Given the description of an element on the screen output the (x, y) to click on. 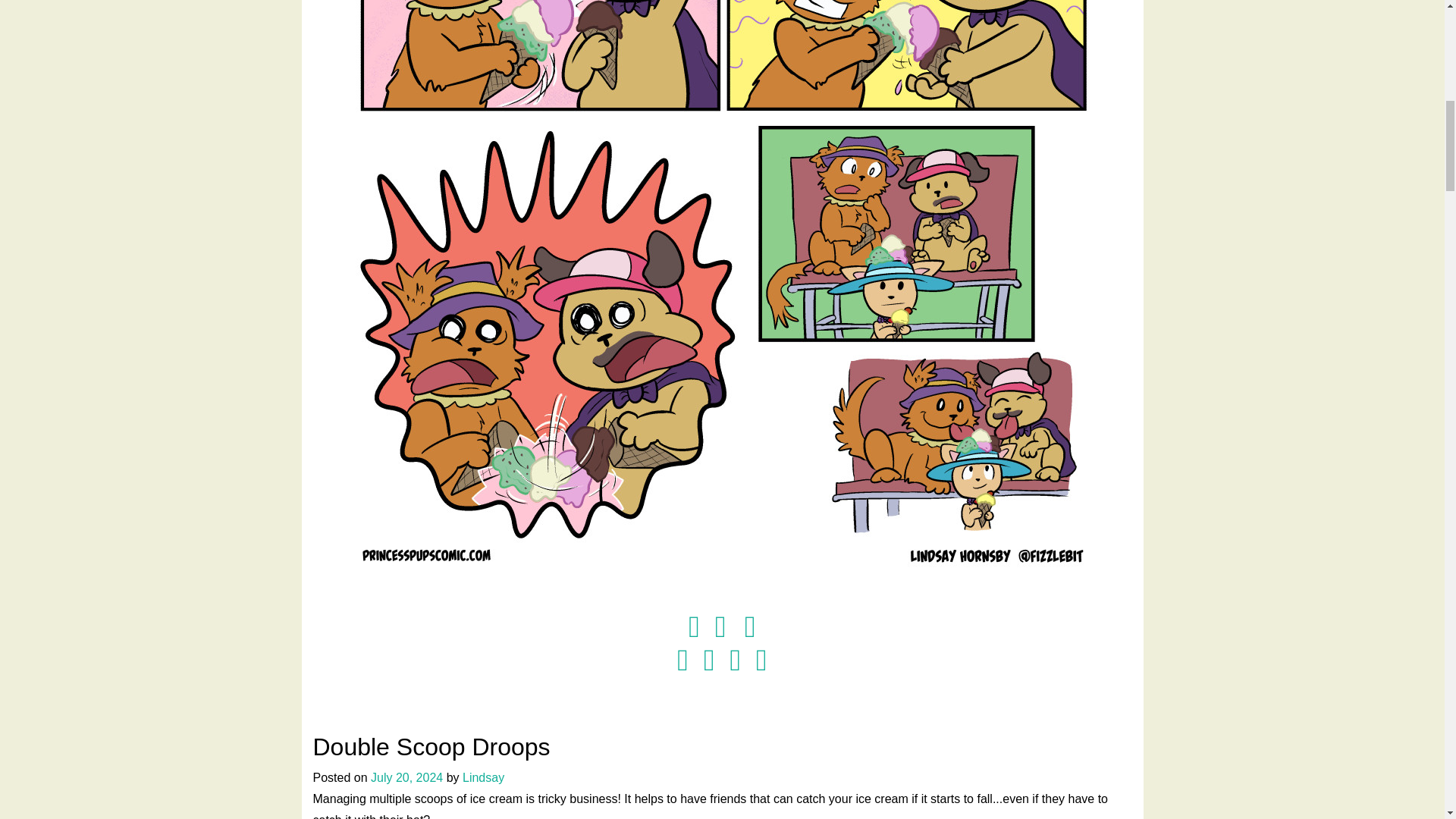
Lindsay (483, 777)
July 20, 2024 (406, 777)
